Given the description of an element on the screen output the (x, y) to click on. 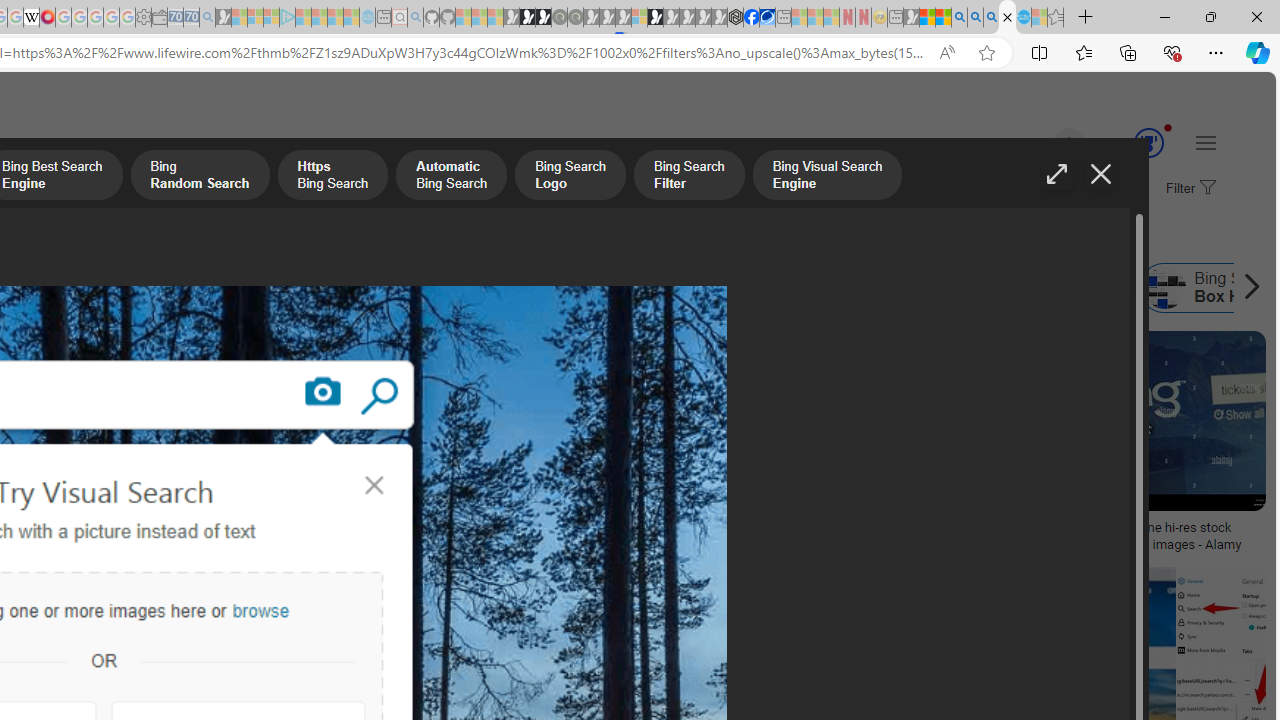
Bing Best Search Engine (173, 287)
Services - Maintenance | Sky Blue Bikes - Sky Blue Bikes (1023, 17)
AutomationID: rh_meter (1148, 142)
Automatic Bing Search (450, 177)
Bing Home Search Site (996, 287)
Bing Search Logo (569, 177)
2009 Bing officially replaced Live Search on June 3 - Search (975, 17)
AirNow.gov (767, 17)
MediaWiki (47, 17)
